Given the description of an element on the screen output the (x, y) to click on. 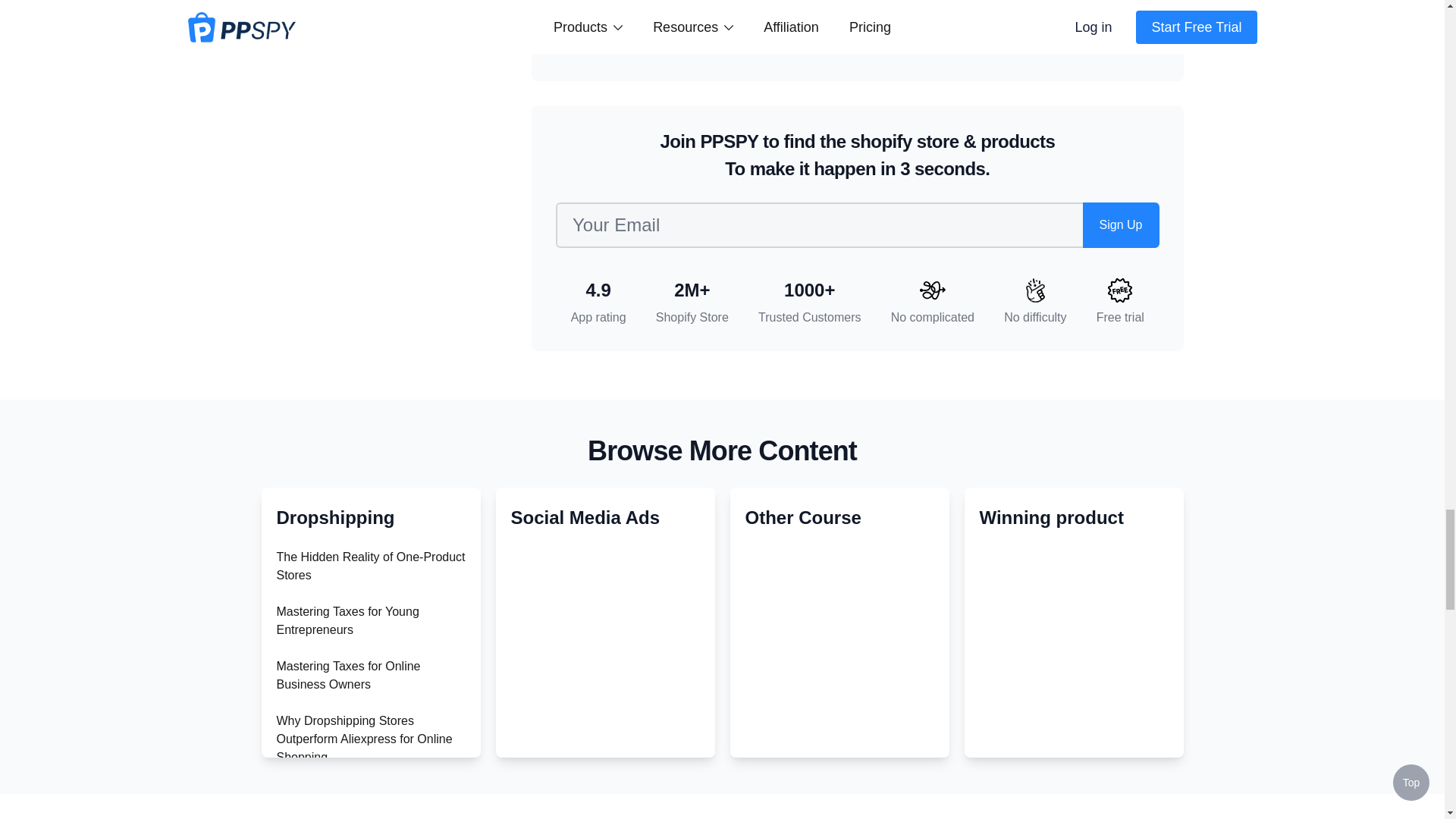
The Hidden Reality of One-Product Stores (370, 565)
Mastering Taxes for Young Entrepreneurs (347, 620)
Mastering Taxes for Online Business Owners (348, 675)
